Given the description of an element on the screen output the (x, y) to click on. 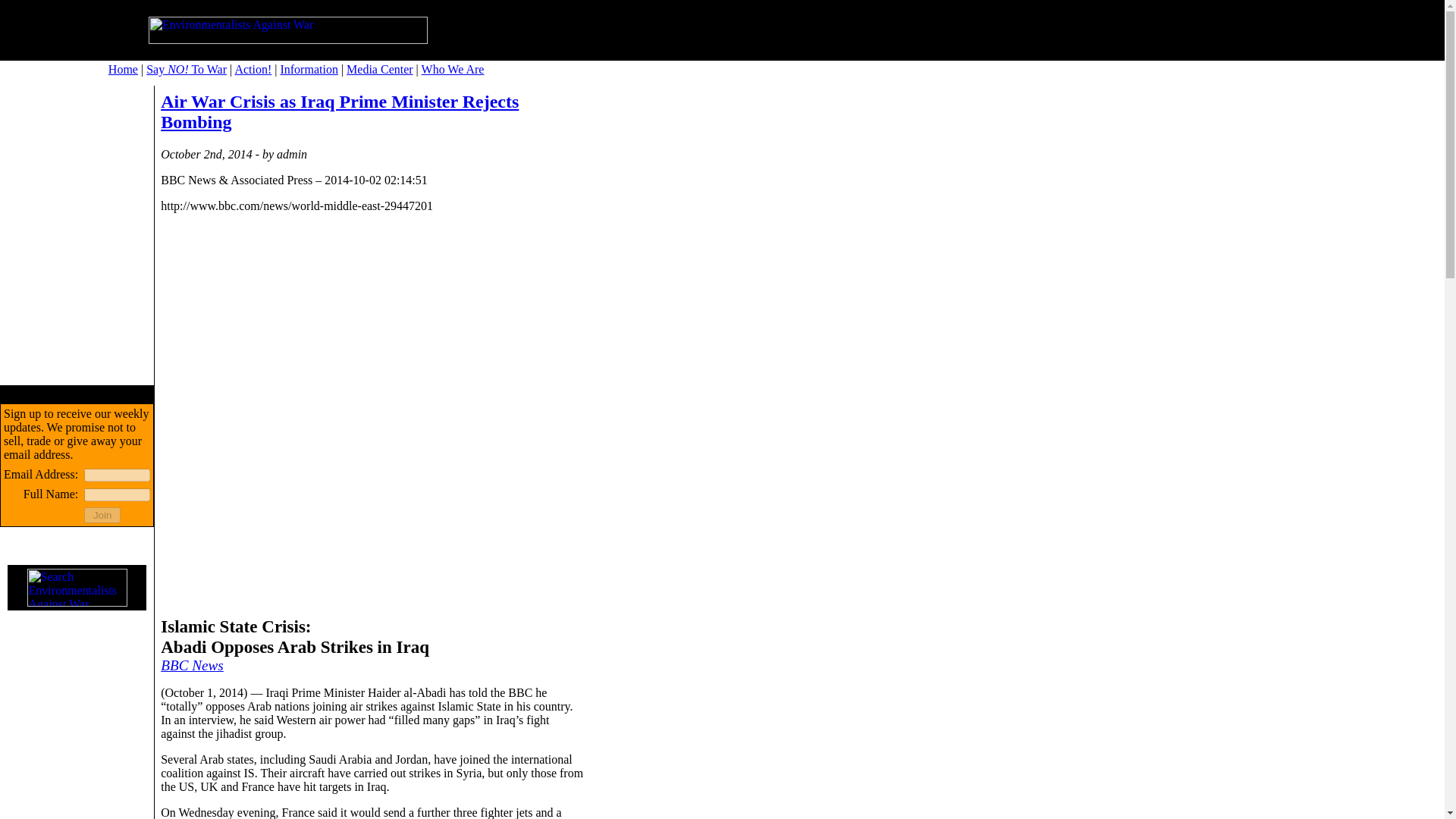
Who We Are (453, 69)
Action! (252, 69)
 Join  (102, 514)
BBC News (192, 665)
Air War Crisis as Iraq Prime Minister Rejects Bombing (339, 111)
Home (122, 69)
Media Center (379, 69)
Information (308, 69)
Say NO! To War (187, 69)
